Given the description of an element on the screen output the (x, y) to click on. 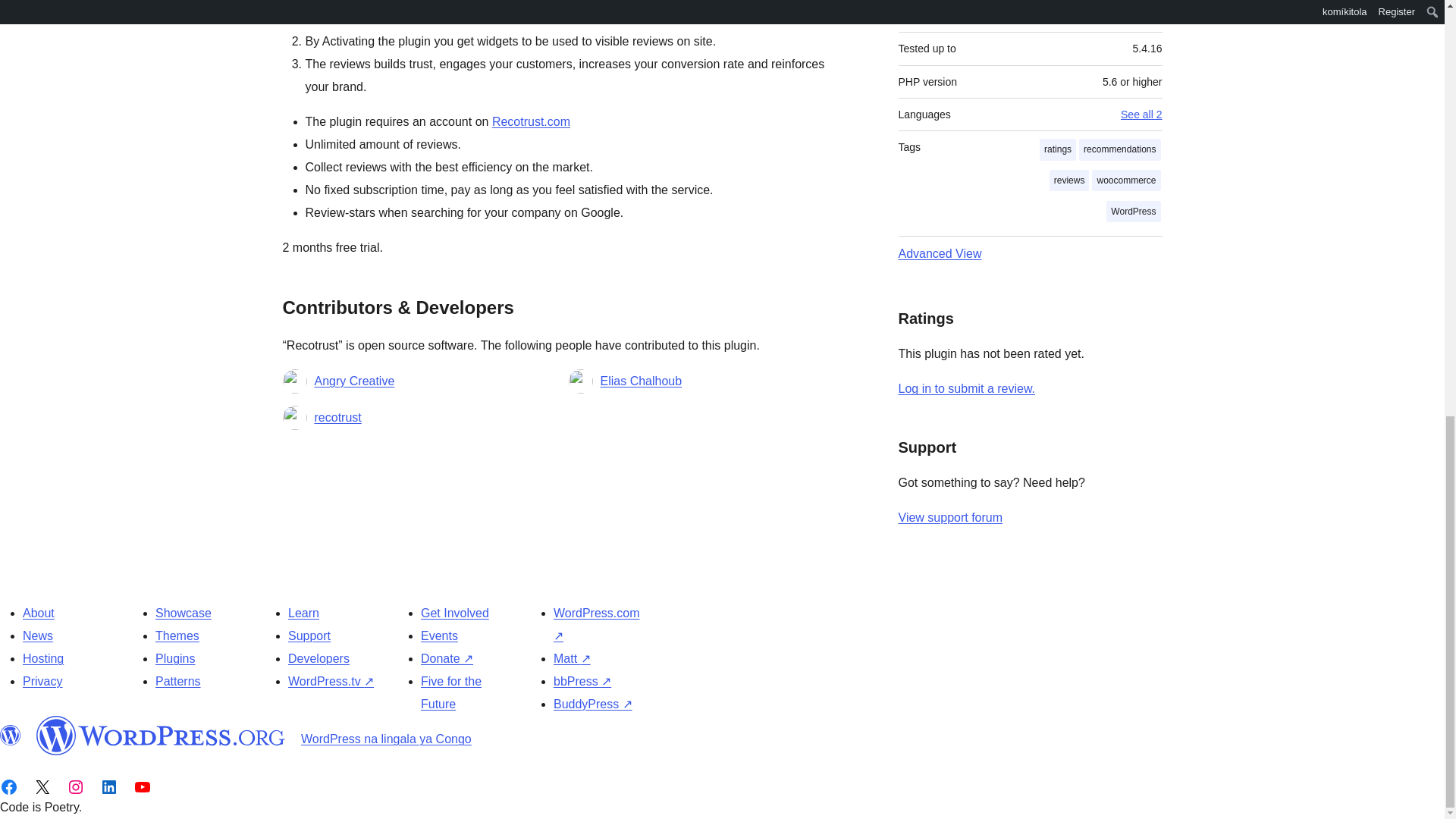
WordPress.org (10, 735)
Recotrust.com (531, 121)
Recotrust.com (531, 121)
recotrust (337, 417)
Log in to WordPress.org (966, 388)
Elias Chalhoub (640, 381)
WordPress.org (160, 735)
Angry Creative (354, 381)
